Given the description of an element on the screen output the (x, y) to click on. 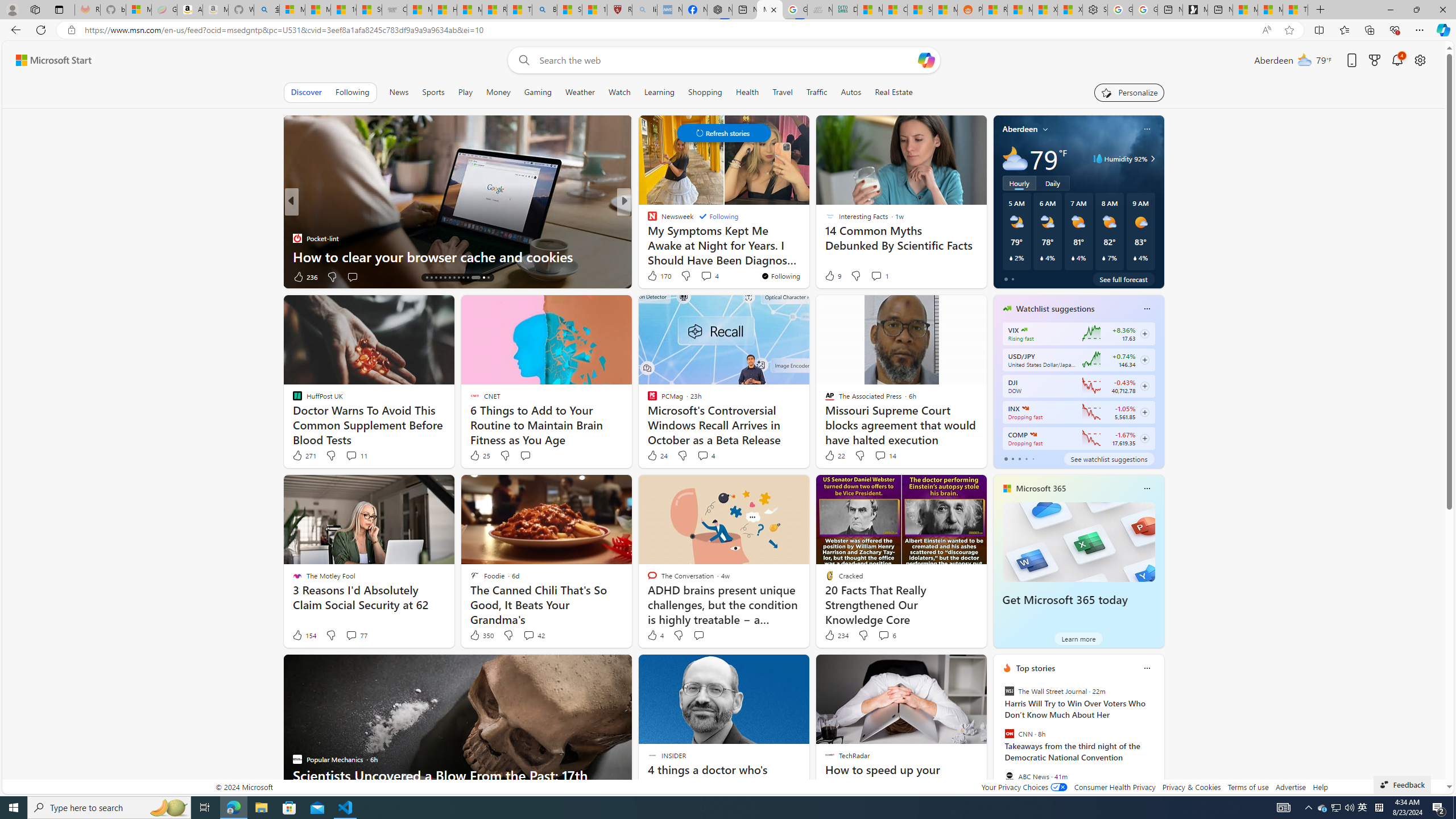
Money (498, 92)
Terms of use (1247, 786)
Mostly cloudy (1014, 158)
Robert H. Shmerling, MD - Harvard Health (619, 9)
Open settings (1420, 60)
tab-1 (1012, 458)
AutomationID: tab-23 (467, 277)
Skip to content (49, 59)
View comments 11 Comment (350, 455)
See full forecast (1123, 278)
236 Like (304, 276)
